Given the description of an element on the screen output the (x, y) to click on. 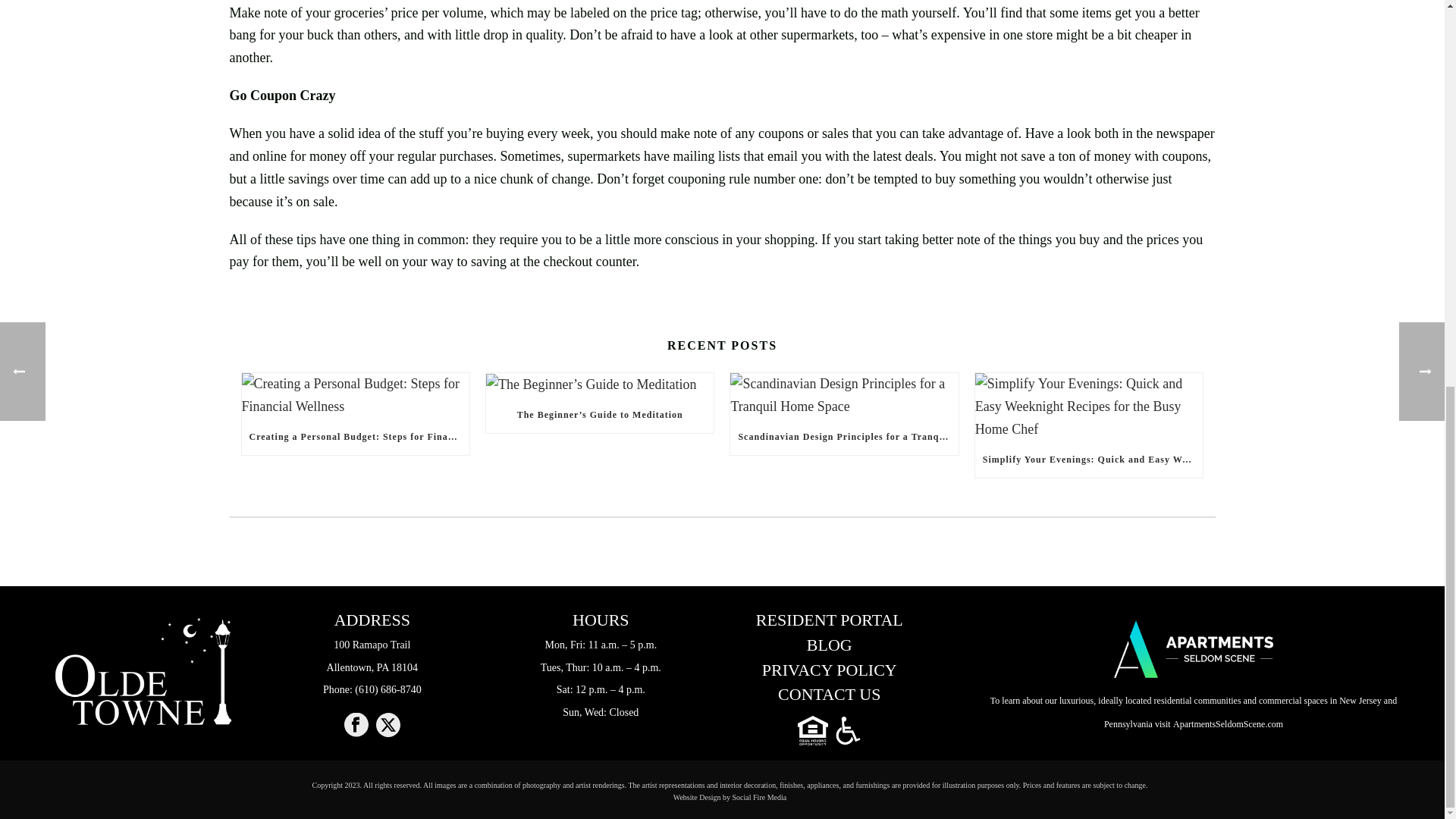
Scandinavian Design Principles for a Tranquil Home Space (844, 436)
Apartments at Olde Towne Logo (143, 671)
 twitter (387, 725)
Creating a Personal Budget: Steps for Financial Wellness (354, 395)
Handicap Accessible (847, 729)
 facebook (371, 656)
Creating a Personal Budget: Steps for Financial Wellness (355, 725)
Equal Housing Opportunity (354, 436)
Scandinavian Design Principles for a Tranquil Home Space (814, 729)
Apartments Seldom Scene Logo (844, 395)
